Given the description of an element on the screen output the (x, y) to click on. 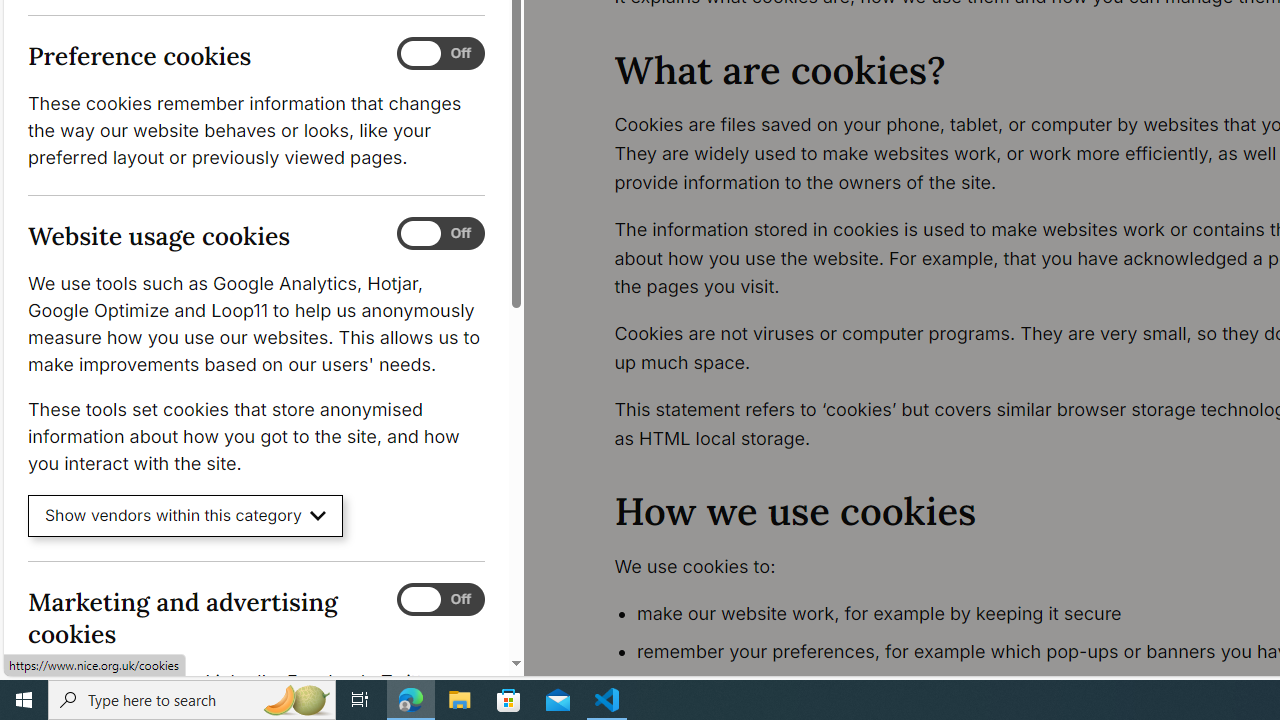
Preference cookies (440, 53)
Website usage cookies (440, 233)
Show vendors within this category (185, 516)
Marketing and advertising cookies (440, 599)
